Given the description of an element on the screen output the (x, y) to click on. 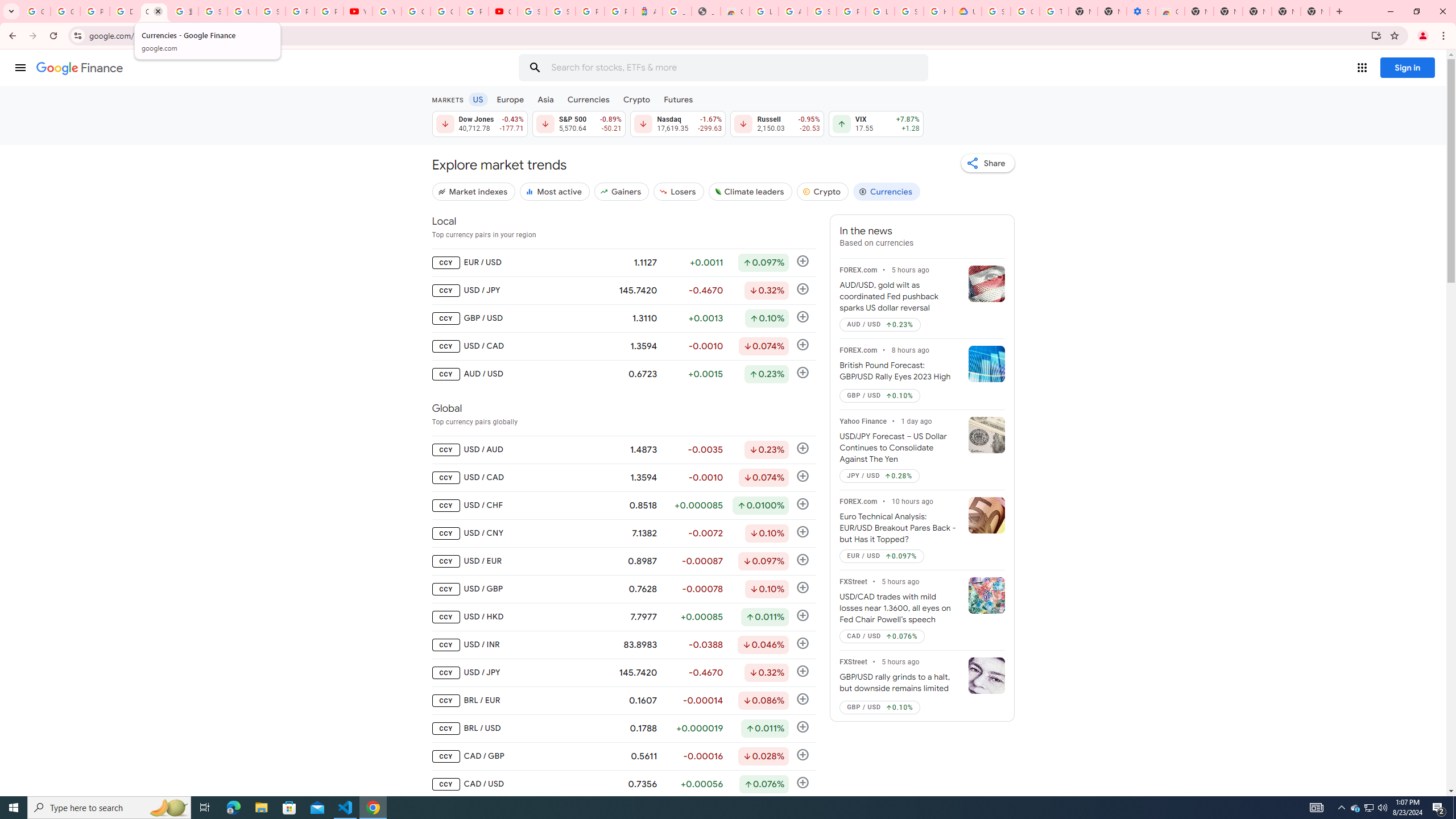
Russell 2,150.03 Down by 0.95% -20.53 (777, 123)
Install Google Finance (1376, 35)
Currencies (588, 99)
Chrome Web Store - Accessibility extensions (1169, 11)
YouTube (386, 11)
Atour Hotel - Google hotels (648, 11)
Crypto (822, 191)
Sign in - Google Accounts (821, 11)
